Given the description of an element on the screen output the (x, y) to click on. 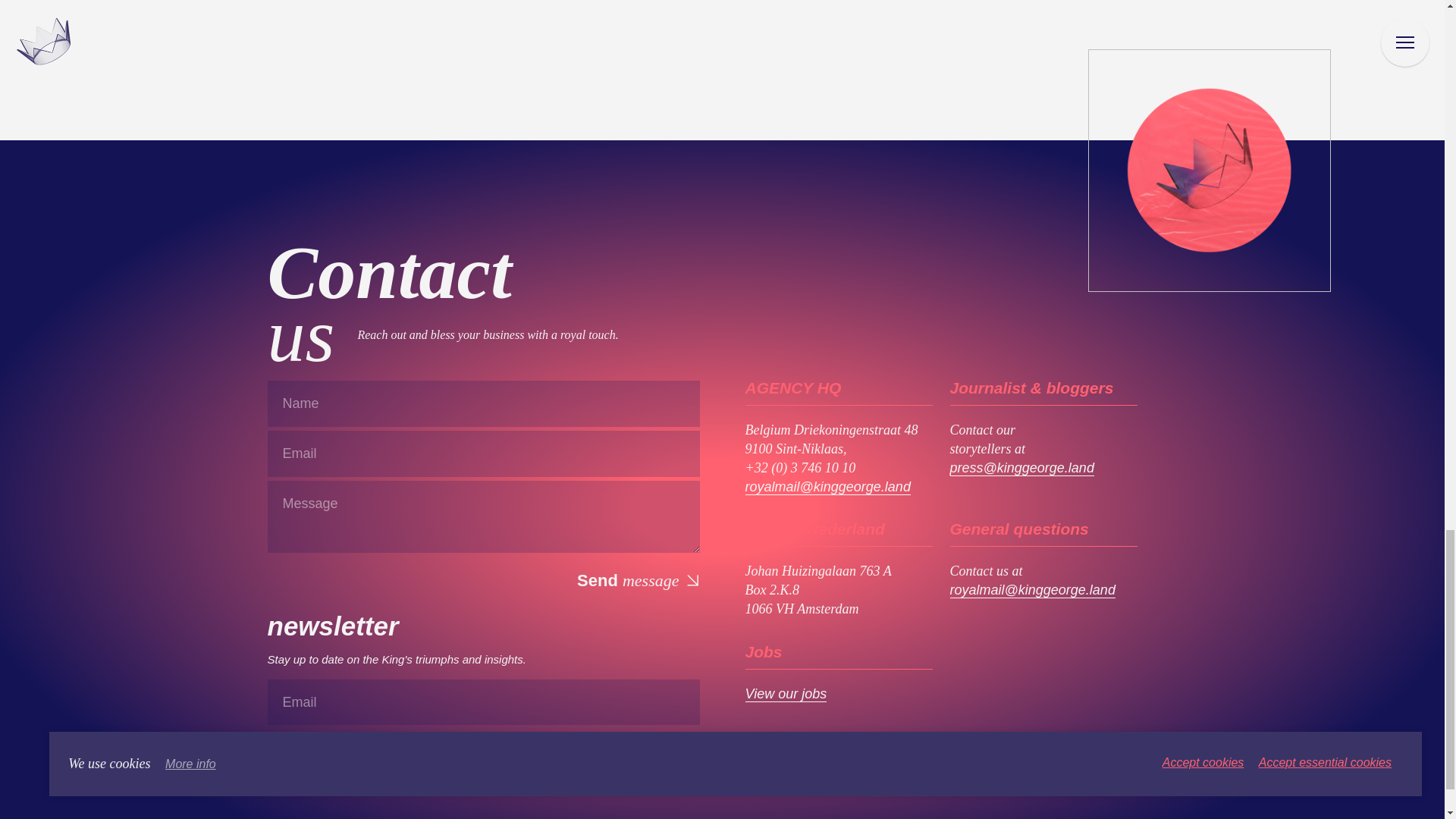
Privacy policy (396, 818)
Register (654, 749)
View our jobs (785, 693)
Send message (636, 580)
